Given the description of an element on the screen output the (x, y) to click on. 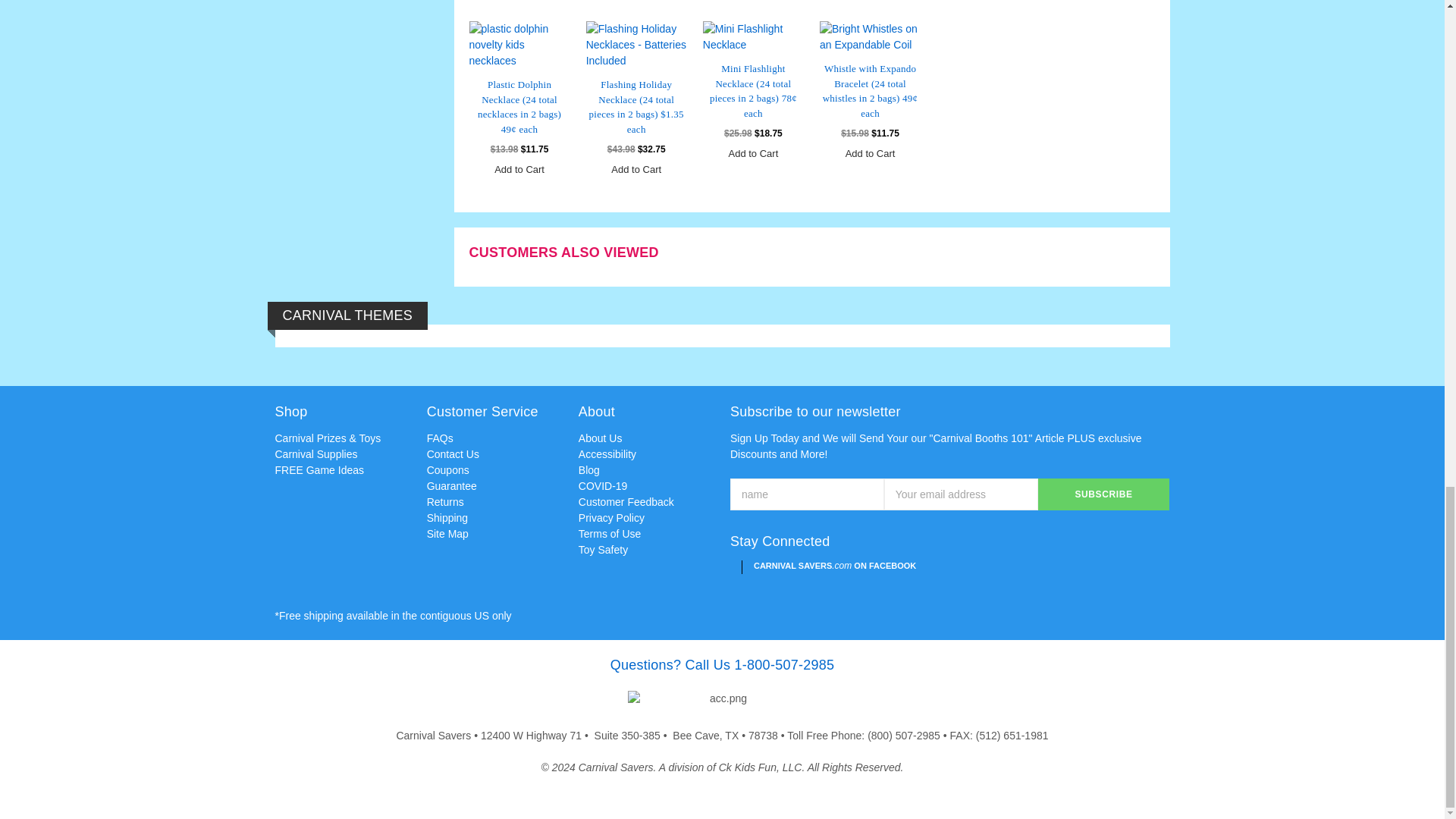
Mini Flashlight Necklace (753, 37)
Flashing Holiday Necklaces - Batteries Included (636, 44)
Bright Whistles on an Expandable Coil (869, 37)
plastic dolphin novelty kids necklaces (518, 44)
Subscribe (1104, 494)
